Given the description of an element on the screen output the (x, y) to click on. 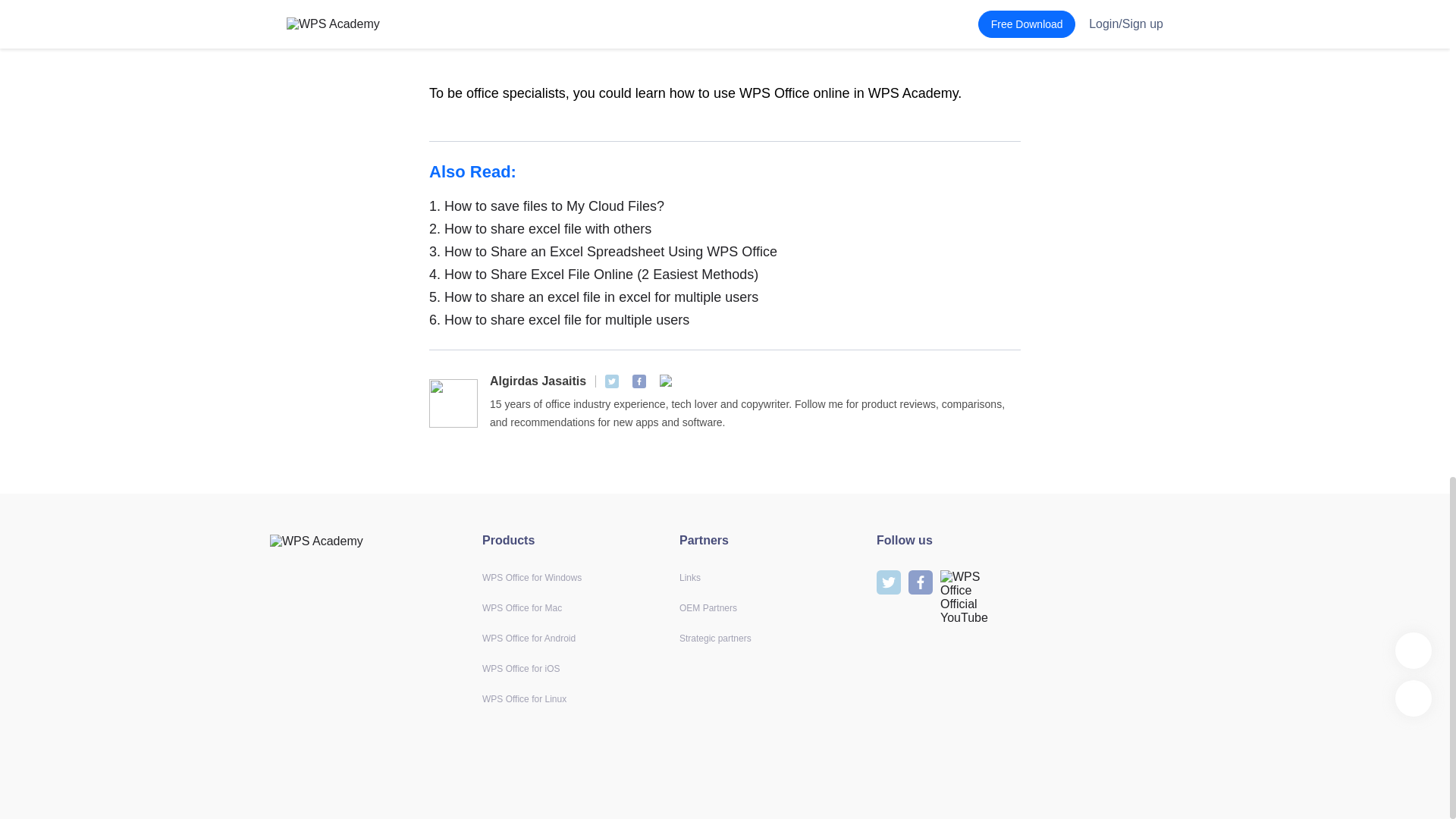
2. How to share excel file with others (724, 228)
How to save files to My Cloud Files? (724, 205)
6. How to share excel file for multiple users (724, 319)
WPS Office Official Facebook (638, 381)
Algirdas Jasaitis (537, 381)
How to Share an Excel Spreadsheet Using WPS Office (724, 251)
OEM Partners (707, 607)
3. How to Share an Excel Spreadsheet Using WPS Office (724, 251)
WPS Office for iOS (520, 668)
Strategic partners (715, 638)
